Given the description of an element on the screen output the (x, y) to click on. 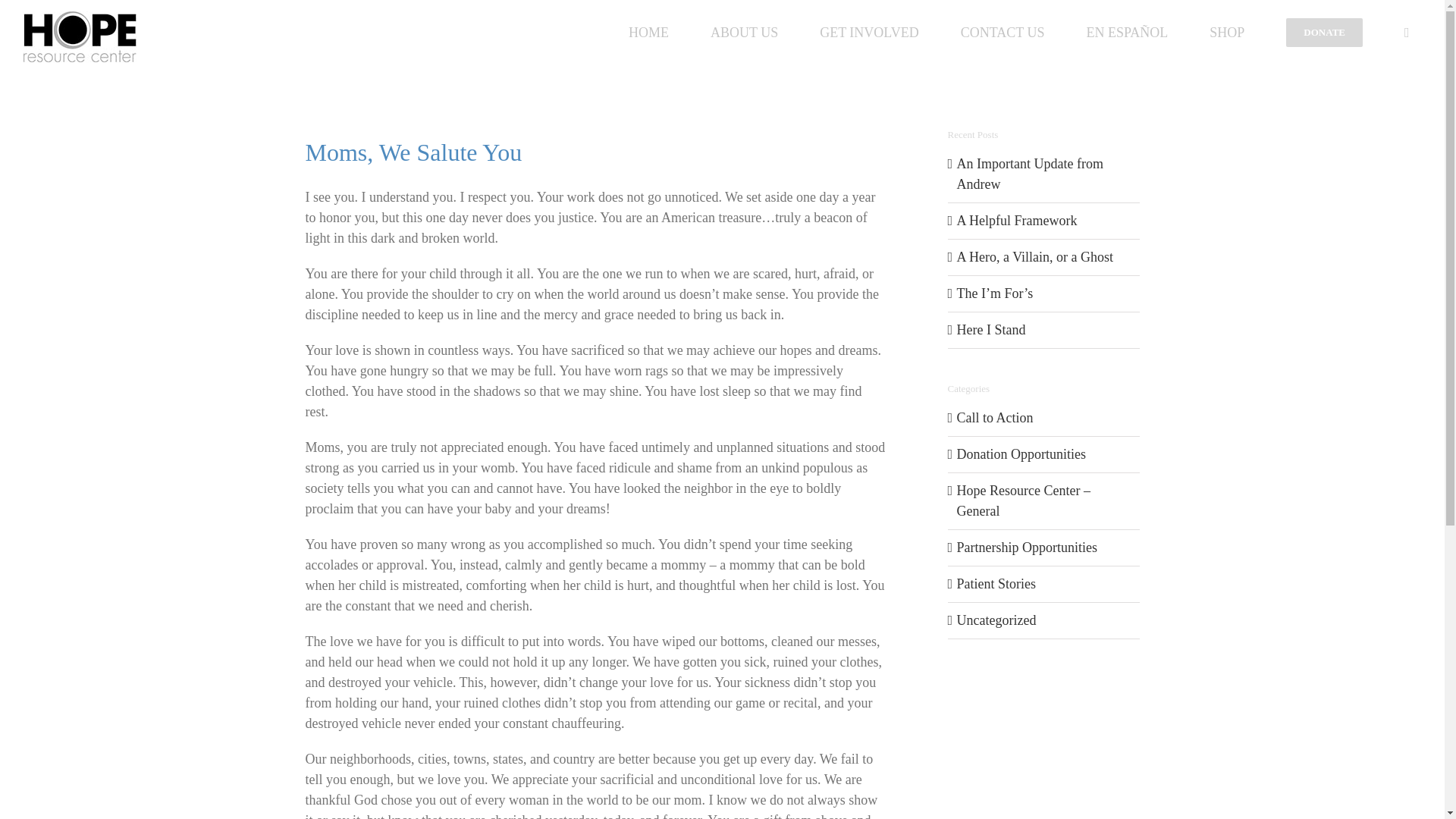
ABOUT US (743, 32)
DONATE (1323, 32)
GET INVOLVED (868, 32)
CONTACT US (1002, 32)
